Given the description of an element on the screen output the (x, y) to click on. 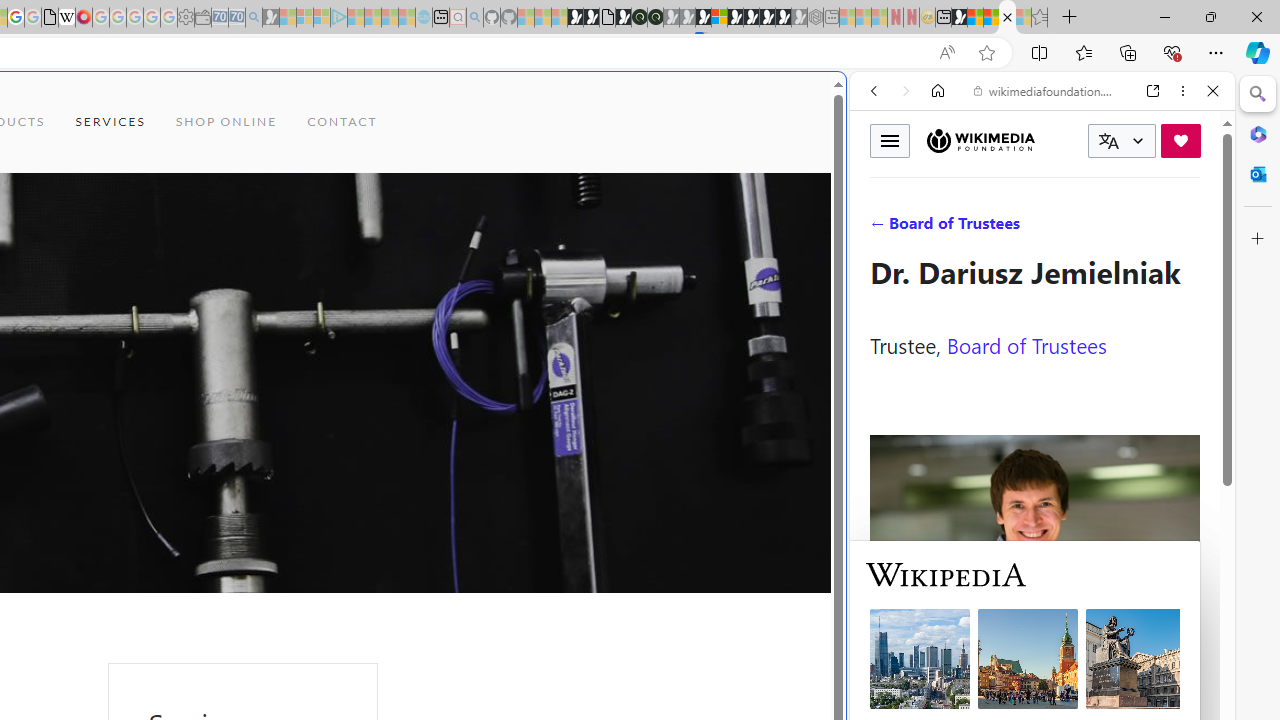
SHOP ONLINE (226, 122)
VIDEOS (1006, 228)
Search Filter, IMAGES (939, 228)
Play Zoo Boom in your browser | Games from Microsoft Start (591, 17)
Home | Sky Blue Bikes - Sky Blue Bikes (687, 426)
Search Filter, Search Tools (1093, 228)
Microsoft Start Gaming - Sleeping (270, 17)
